Given the description of an element on the screen output the (x, y) to click on. 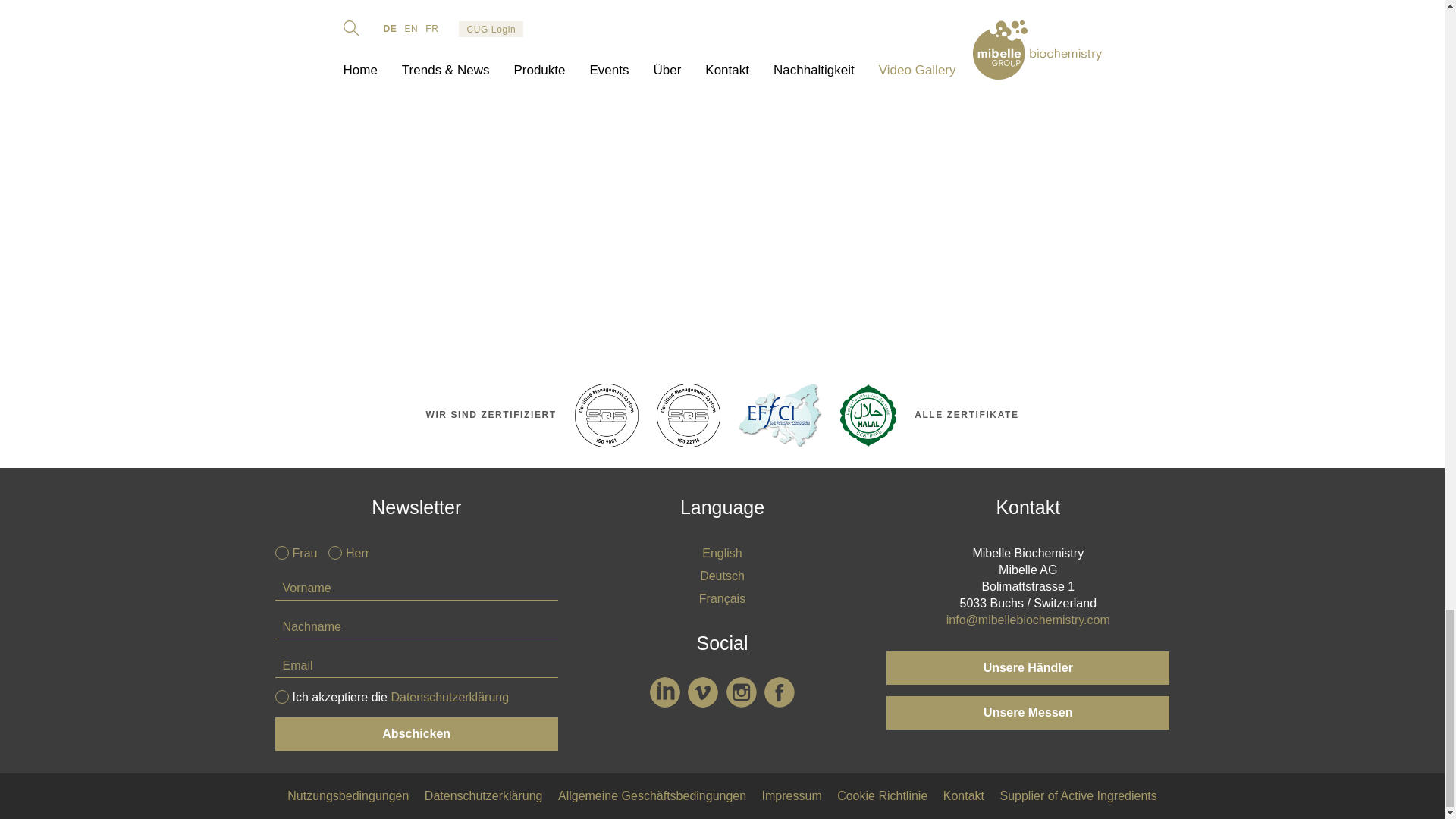
Abschicken (416, 734)
